Given the description of an element on the screen output the (x, y) to click on. 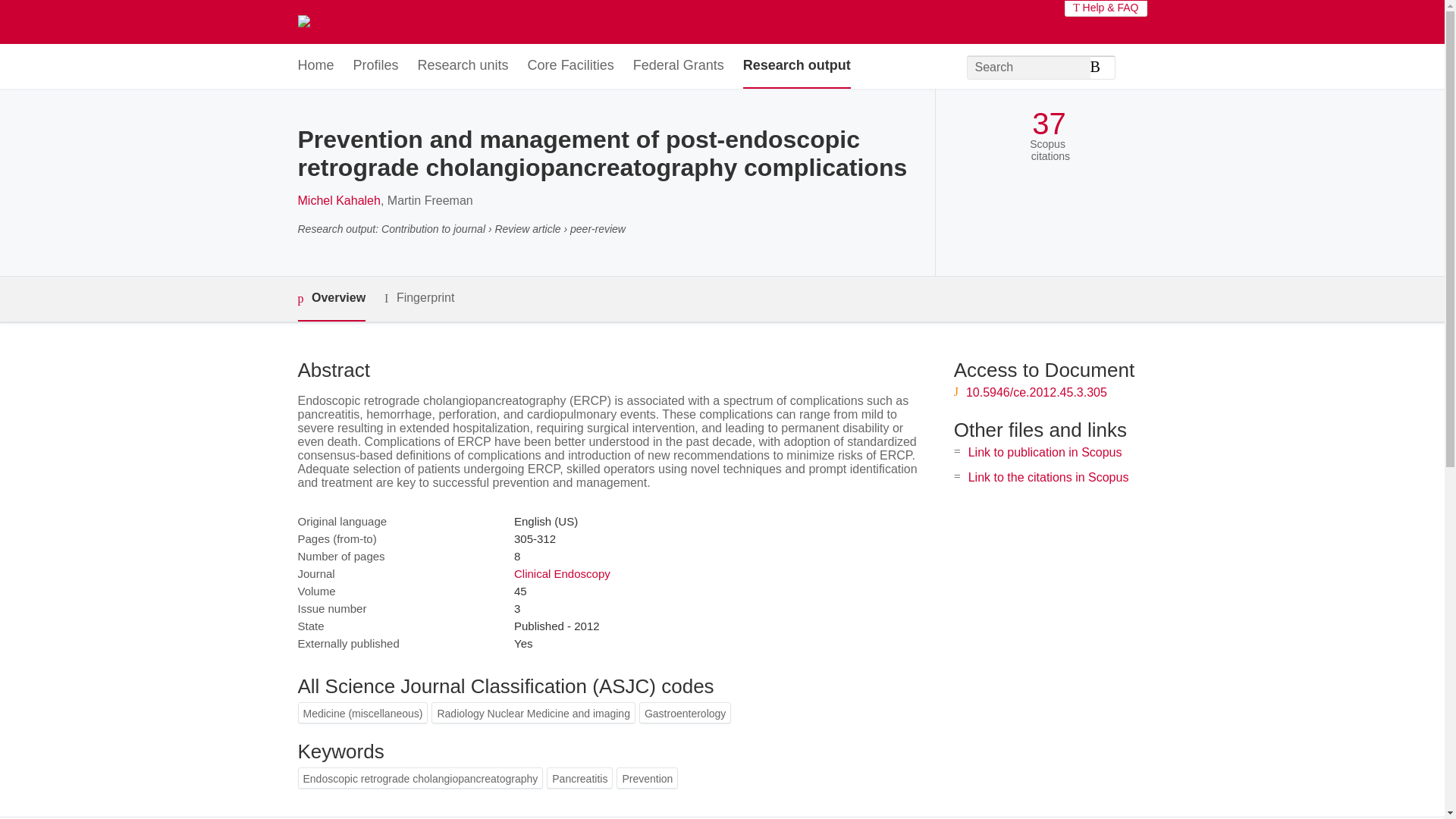
Clinical Endoscopy (561, 573)
Profiles (375, 66)
37 (1048, 123)
Link to the citations in Scopus (1048, 477)
Overview (331, 298)
Fingerprint (419, 298)
Core Facilities (570, 66)
Research units (462, 66)
Rutgers, The State University of New Jersey Home (437, 21)
Michel Kahaleh (338, 200)
